Given the description of an element on the screen output the (x, y) to click on. 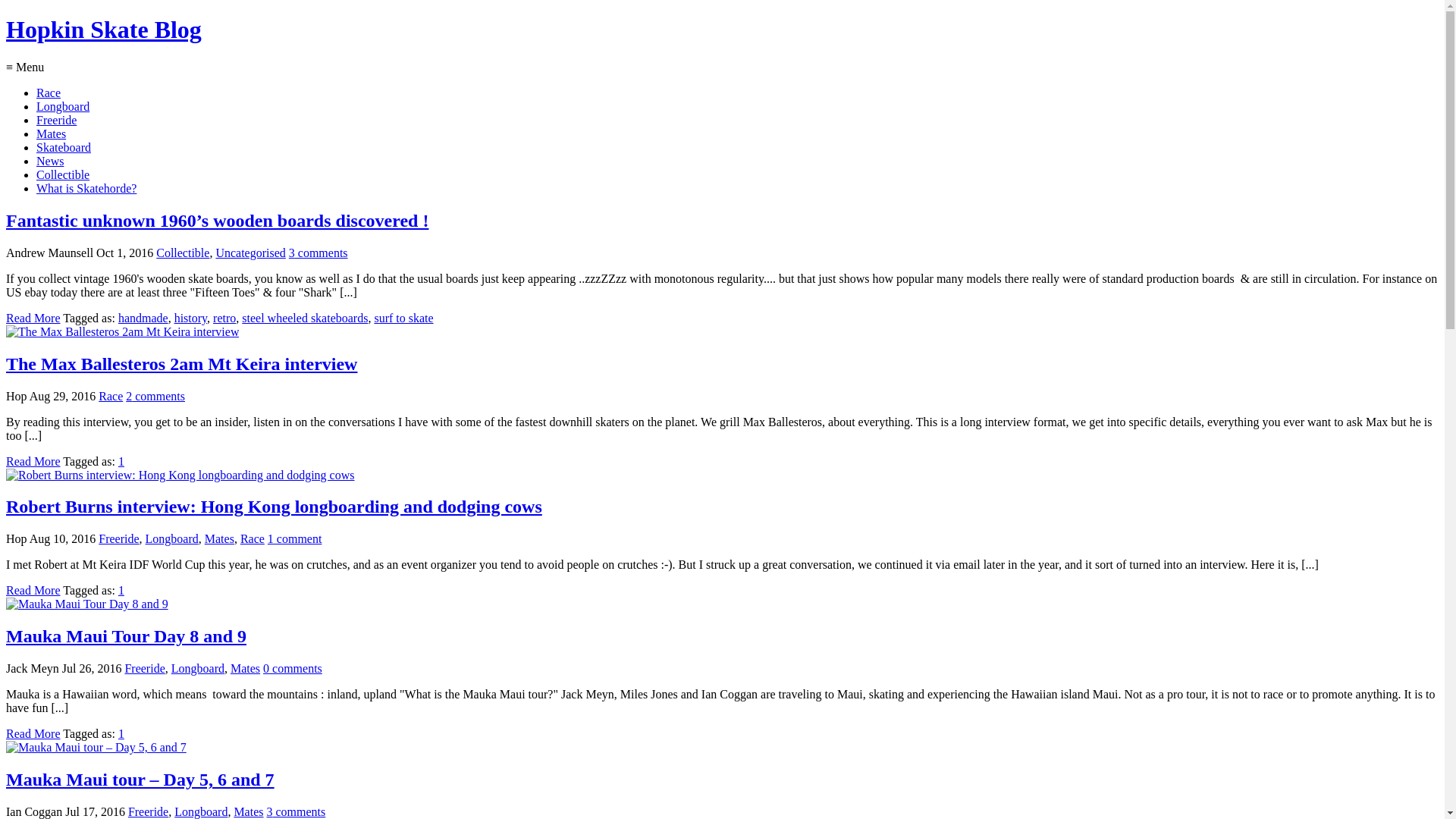
1 comment Element type: text (294, 538)
Collectible Element type: text (62, 174)
Mates Element type: text (50, 133)
Mauka Maui Tour Day 8 and 9 Element type: text (126, 636)
Longboard Element type: text (171, 538)
2 comments Element type: text (155, 395)
1 Element type: text (121, 461)
0 comments Element type: text (292, 668)
history Element type: text (190, 317)
Freeride Element type: text (118, 538)
3 comments Element type: text (318, 252)
Race Element type: text (110, 395)
Longboard Element type: text (62, 106)
Freeride Element type: text (144, 668)
3 comments Element type: text (296, 811)
Mates Element type: text (248, 811)
Mates Element type: text (245, 668)
Read More Element type: text (33, 317)
Read More Element type: text (33, 733)
Freeride Element type: text (148, 811)
Freeride Element type: text (56, 119)
What is Skatehorde? Element type: text (86, 188)
Race Element type: text (48, 92)
Longboard Element type: text (197, 668)
steel wheeled skateboards Element type: text (304, 317)
Uncategorised Element type: text (250, 252)
Collectible Element type: text (182, 252)
Race Element type: text (252, 538)
Hopkin Skate Blog Element type: text (103, 29)
Mates Element type: text (219, 538)
The Max Ballesteros 2am Mt Keira interview Element type: text (181, 363)
handmade Element type: text (143, 317)
1 Element type: text (121, 733)
Skateboard Element type: text (63, 147)
News Element type: text (49, 160)
Longboard Element type: text (200, 811)
1 Element type: text (121, 589)
surf to skate Element type: text (403, 317)
retro Element type: text (224, 317)
Read More Element type: text (33, 461)
Read More Element type: text (33, 589)
